Given the description of an element on the screen output the (x, y) to click on. 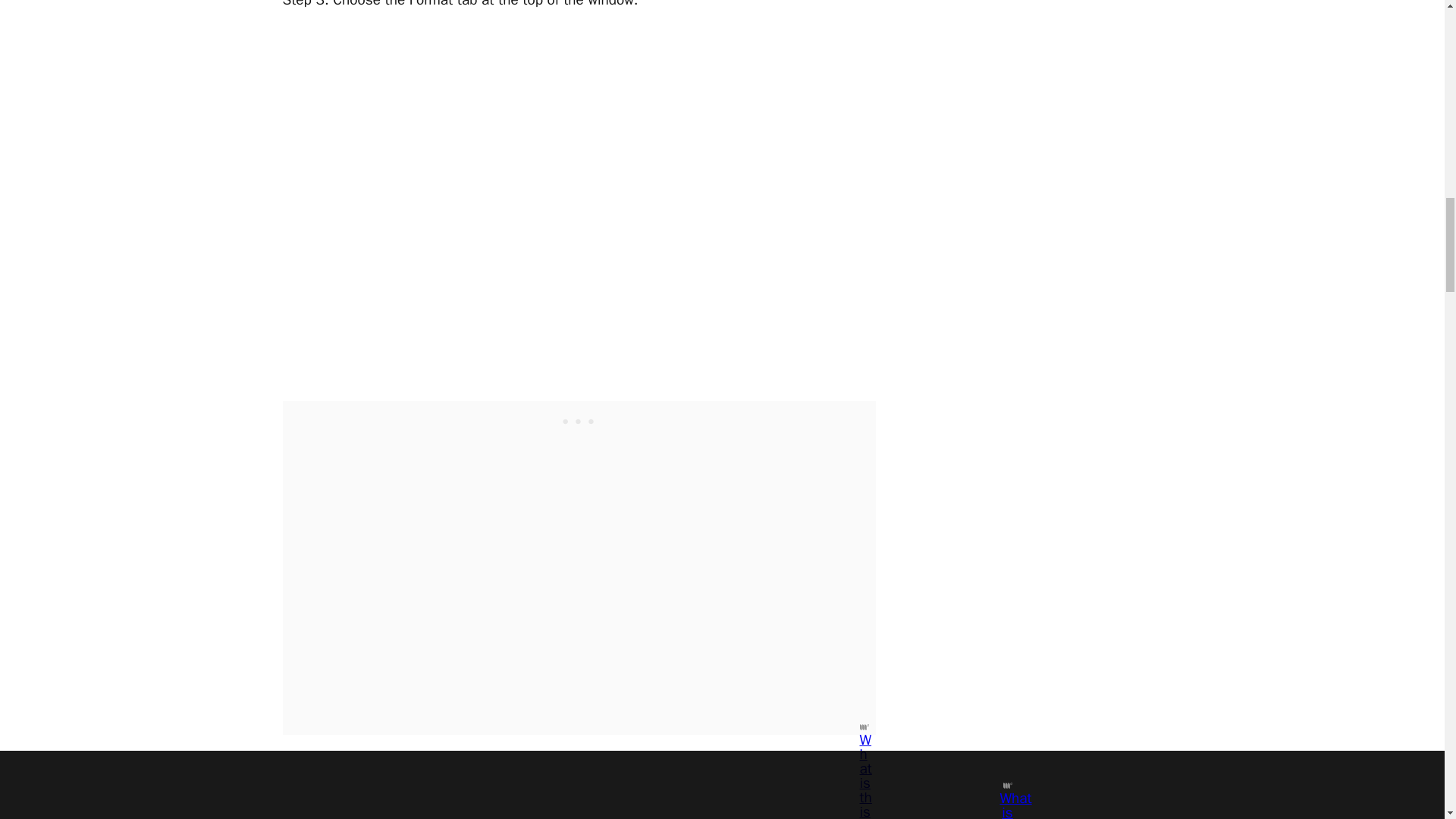
3rd party ad content (579, 419)
